Given the description of an element on the screen output the (x, y) to click on. 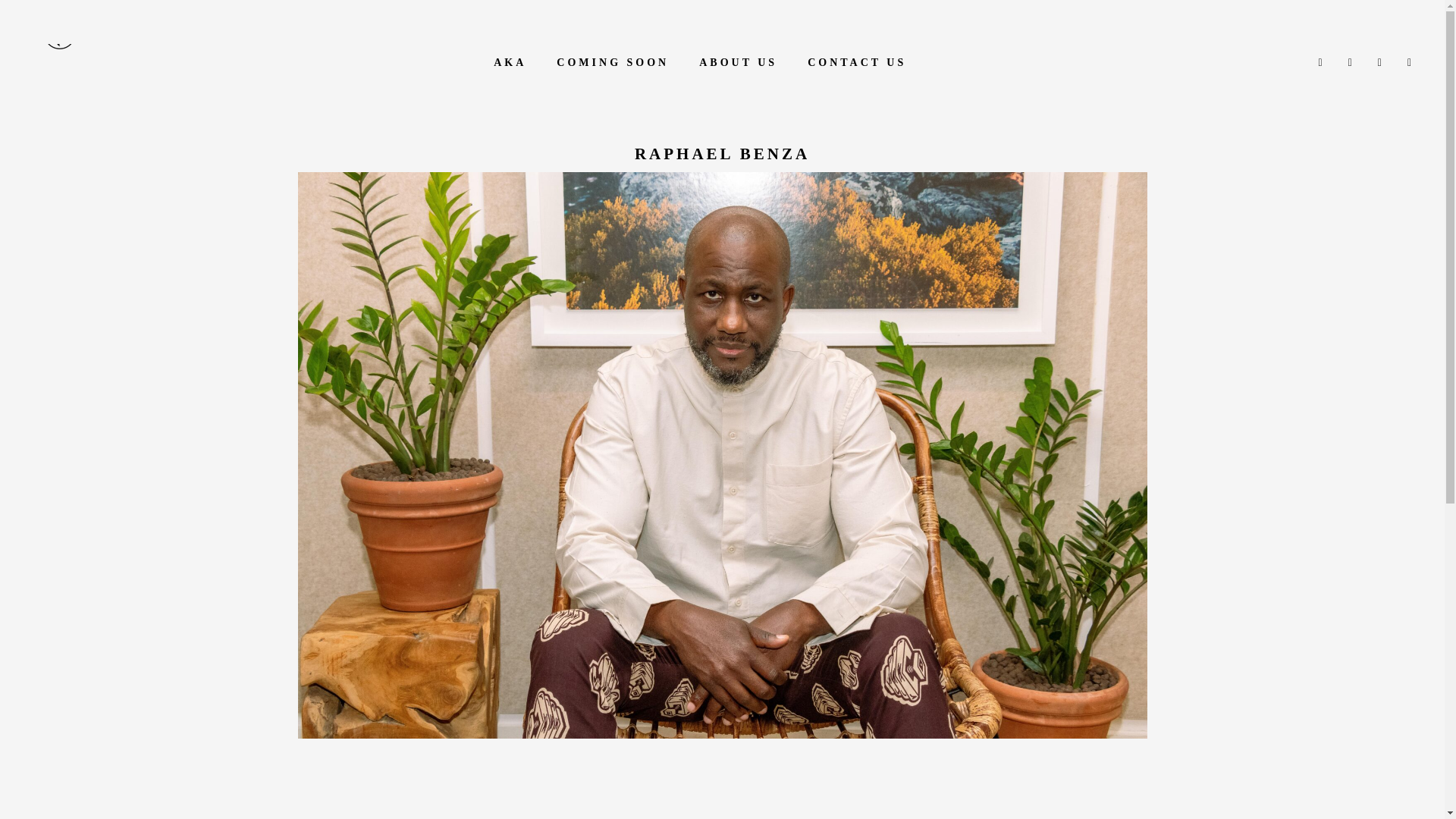
ABOUT US (737, 62)
AKA (510, 62)
COMING SOON (612, 62)
CONTACT US (856, 62)
